Given the description of an element on the screen output the (x, y) to click on. 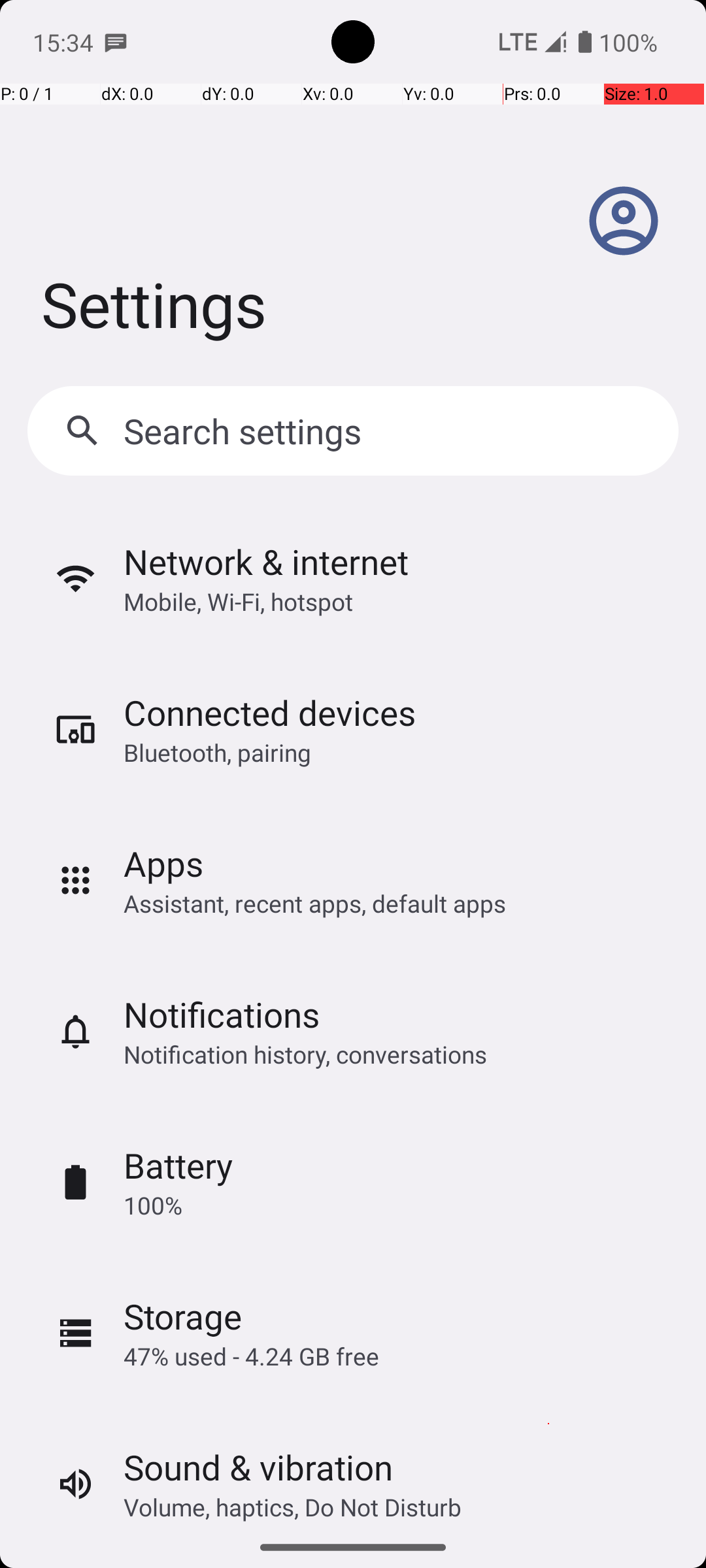
47% used - 4.24 GB free Element type: android.widget.TextView (251, 1355)
